Given the description of an element on the screen output the (x, y) to click on. 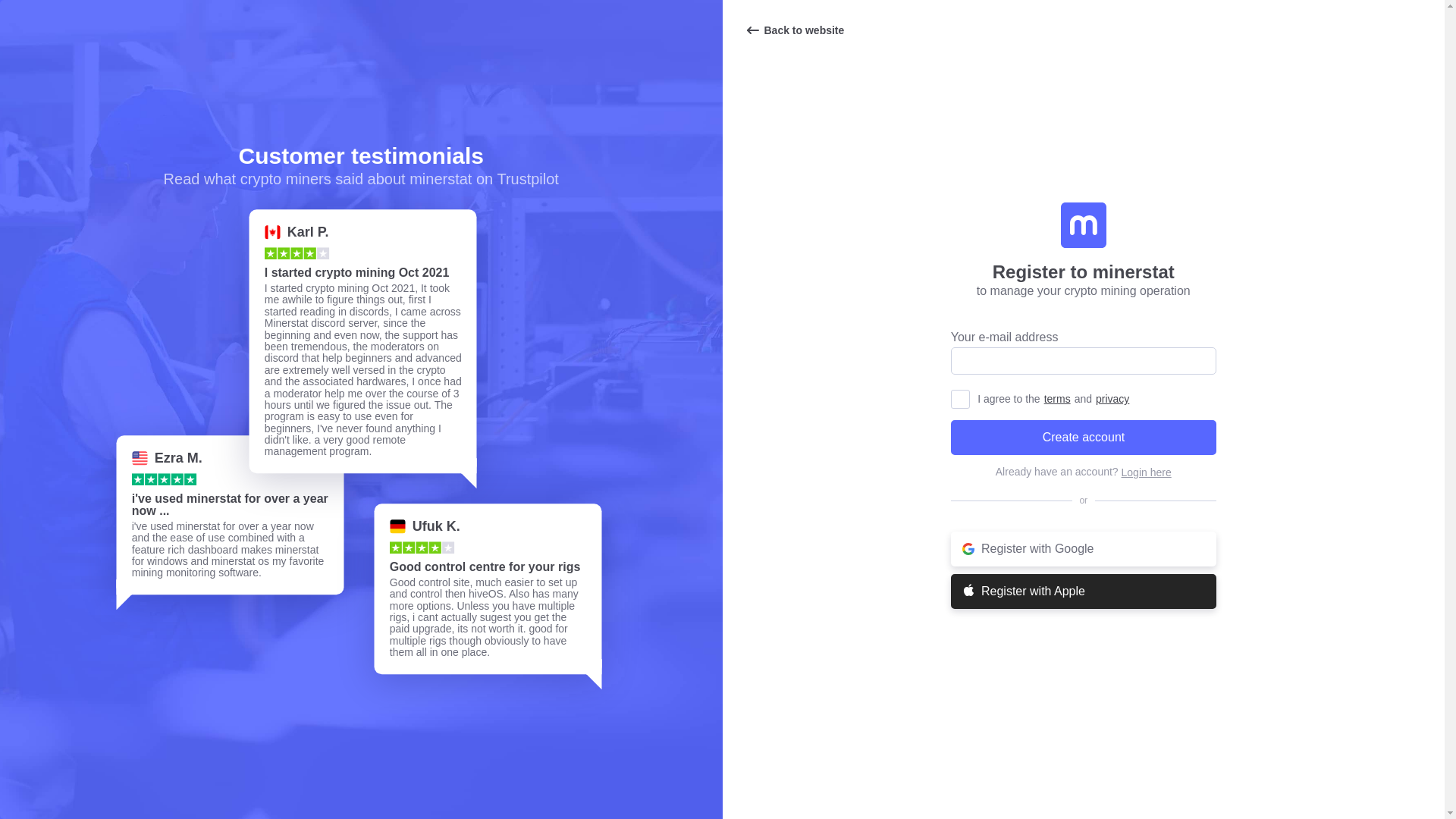
Back to website (794, 29)
Login here (1146, 472)
Create account (1082, 437)
privacy (1112, 398)
Login (1146, 472)
terms (1056, 398)
